Given the description of an element on the screen output the (x, y) to click on. 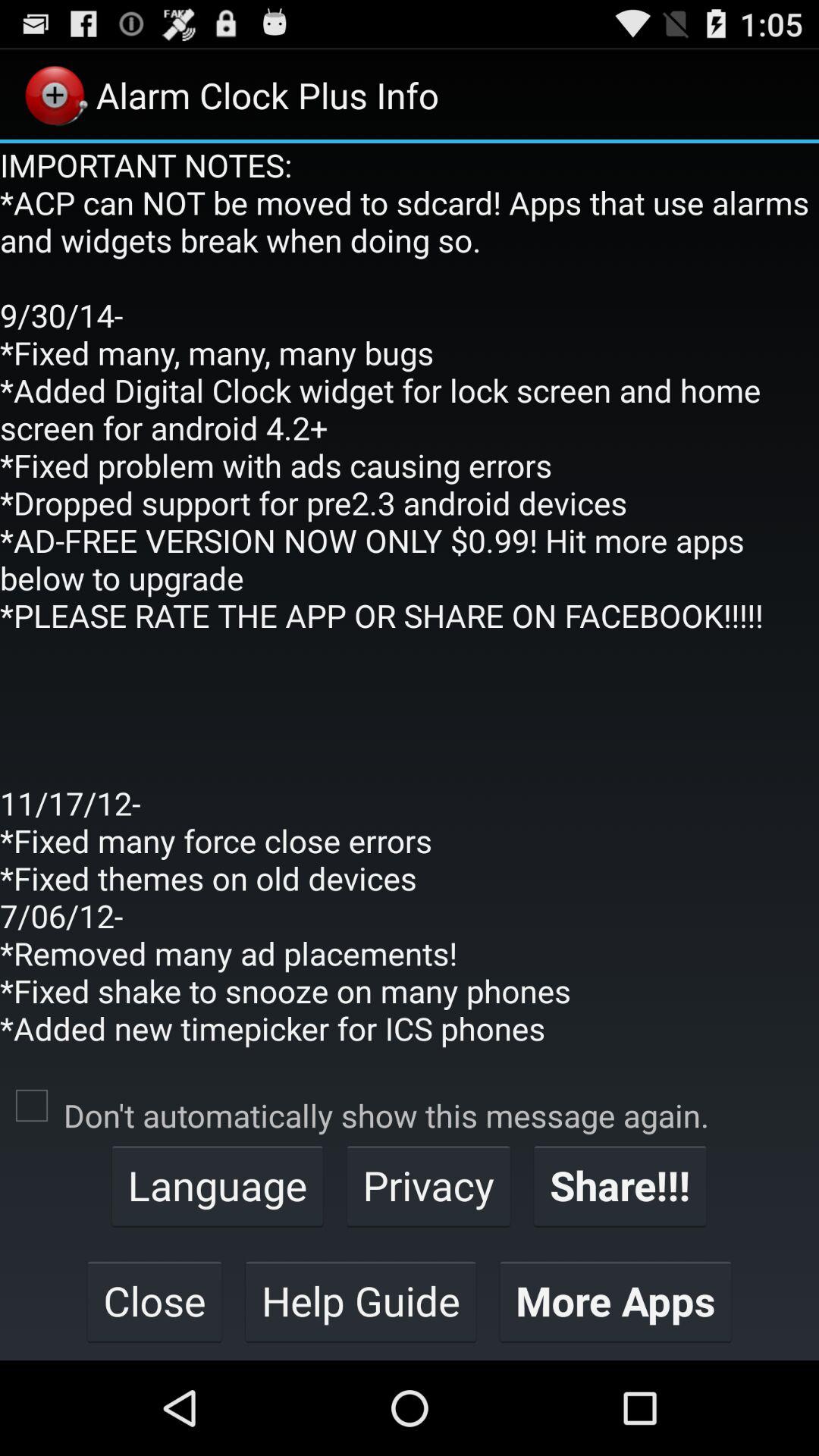
press icon below language icon (360, 1300)
